Given the description of an element on the screen output the (x, y) to click on. 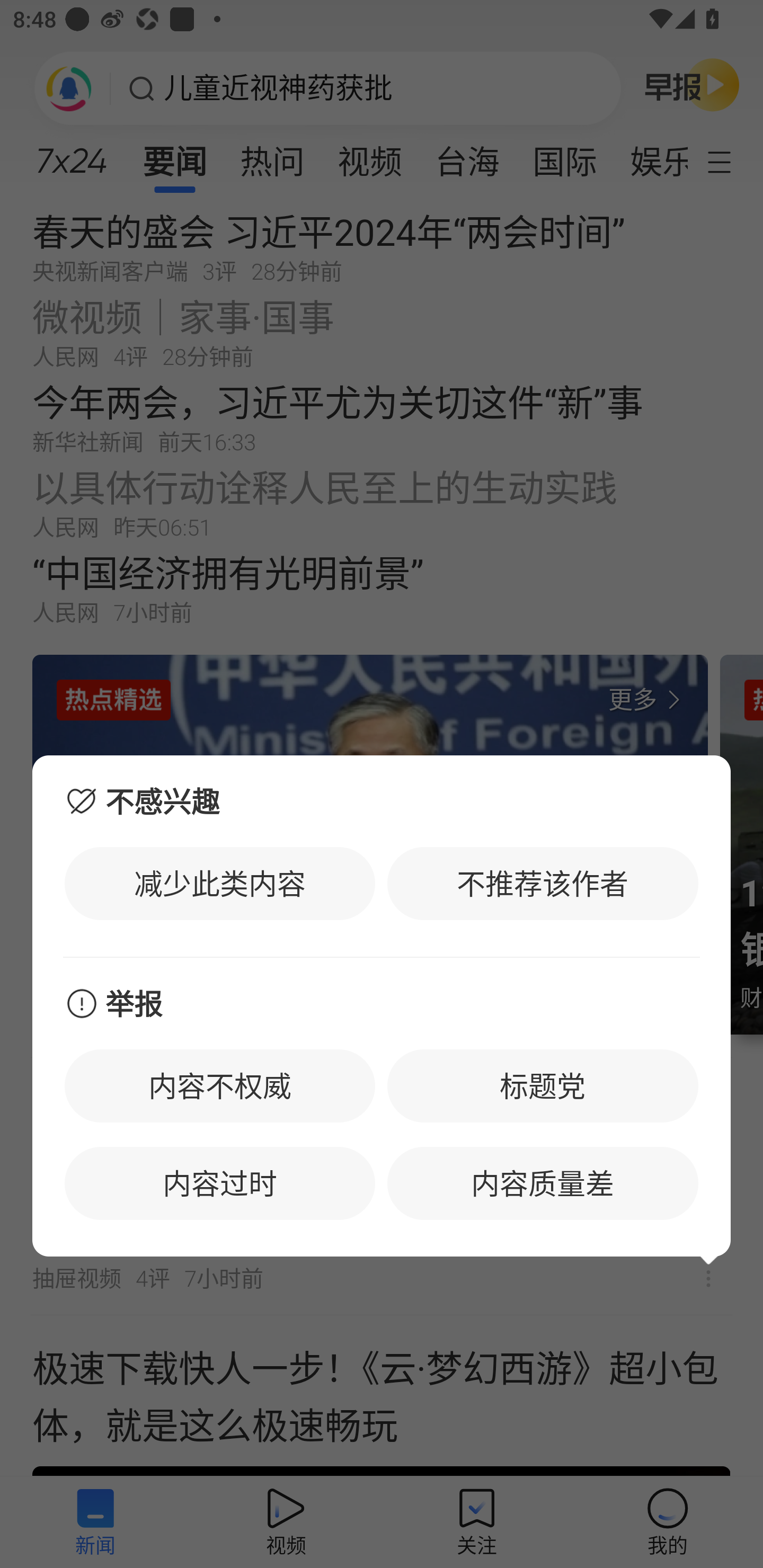
减少此类内容 (219, 883)
不推荐该作者 (542, 883)
内容不权威 (219, 1085)
标题党 (542, 1085)
内容过时 (219, 1182)
内容质量差 (542, 1182)
